Given the description of an element on the screen output the (x, y) to click on. 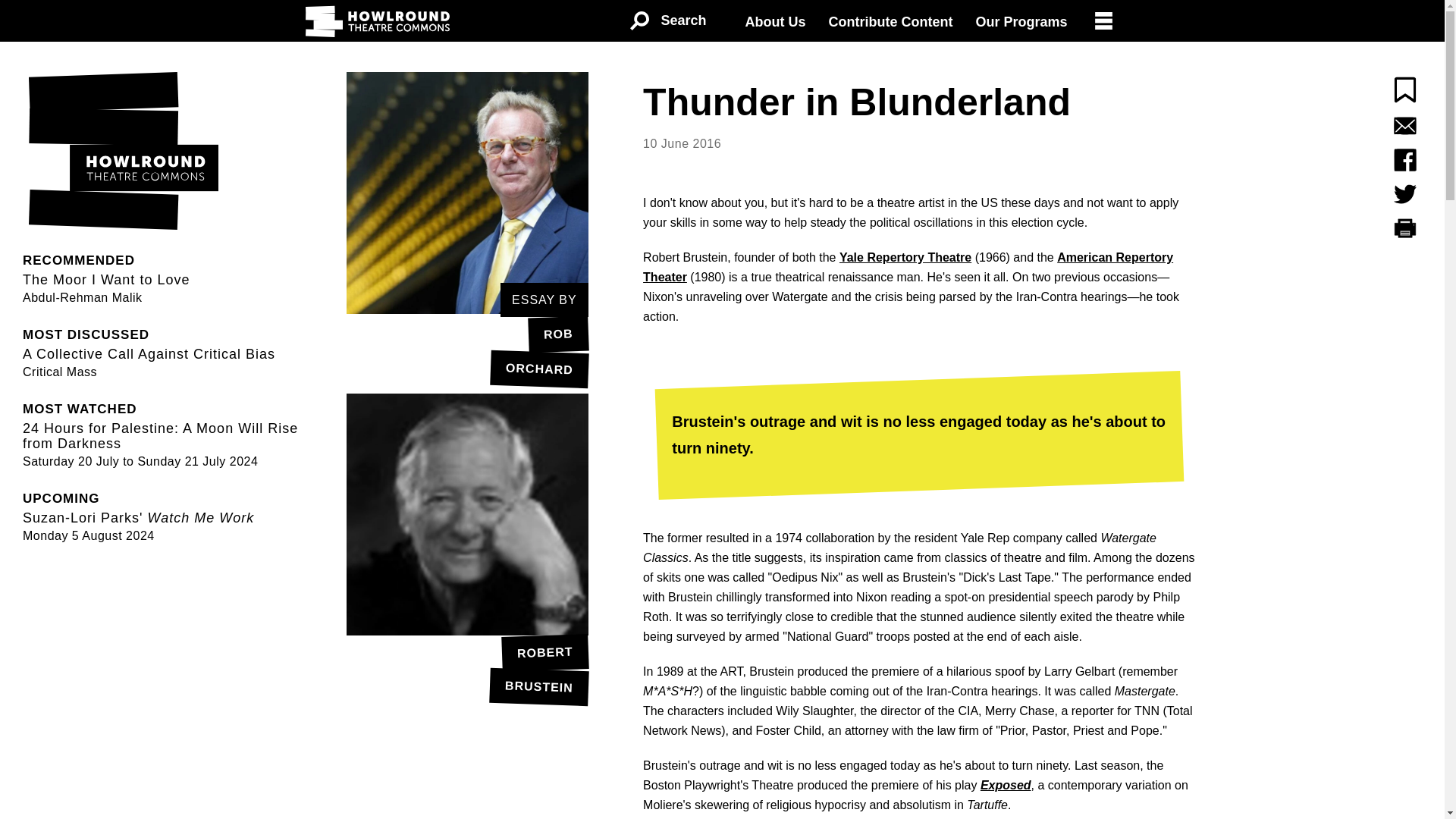
Our Programs (1020, 21)
Search (667, 20)
Skip to main content (102, 277)
American Repertory Theater (467, 350)
About Us (889, 21)
Yale Repertory Theatre (467, 669)
